Given the description of an element on the screen output the (x, y) to click on. 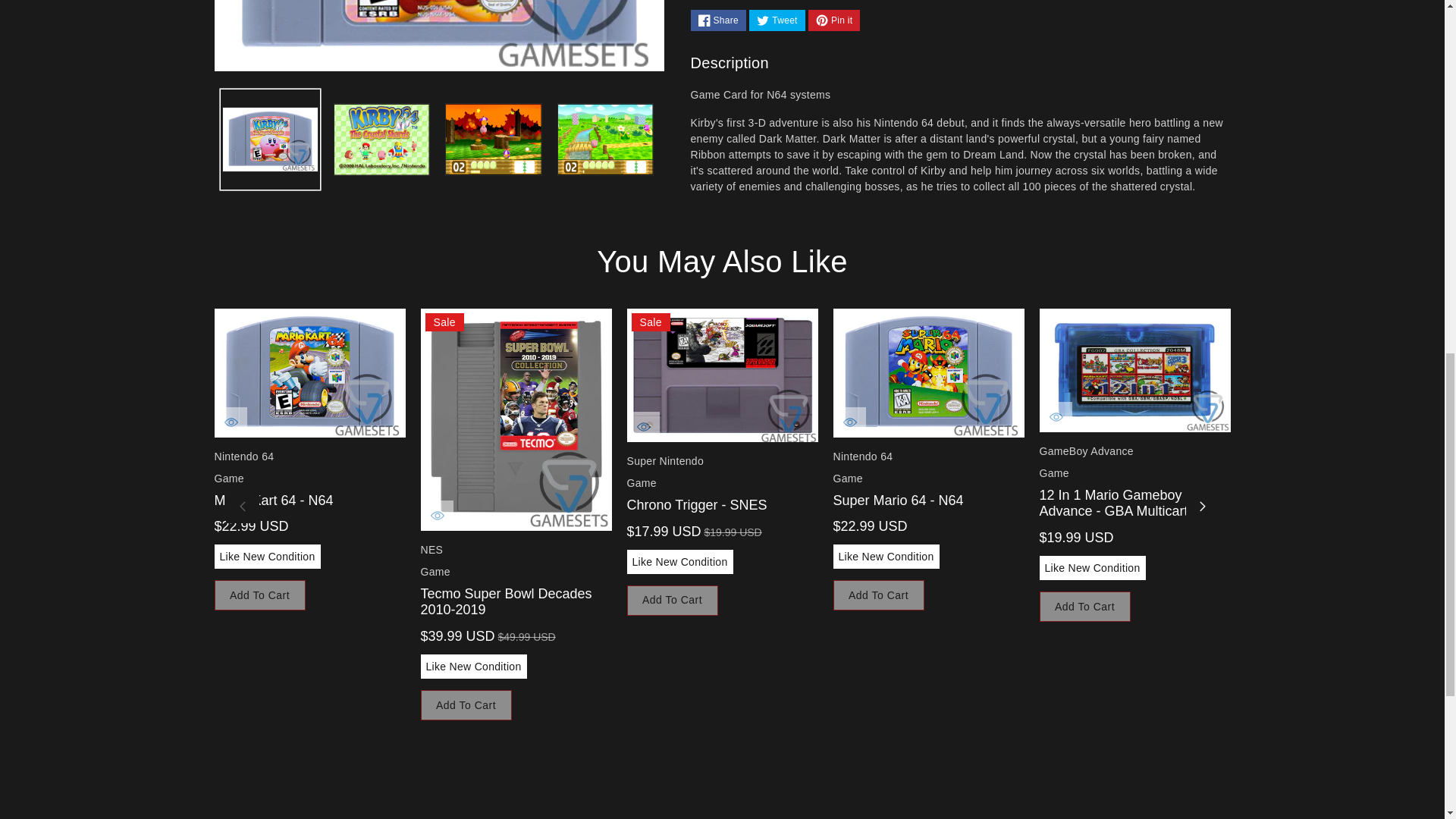
Super Mario 64 - N64 (927, 372)
Pokemon Emerald Kaizo - GBA Romhack (1339, 370)
Chrono Trigger - SNES (721, 375)
Mario Kart 64 - N64 (309, 372)
12 in 1 Mario Gameboy Advance - GBA Multicart (1134, 370)
